Given the description of an element on the screen output the (x, y) to click on. 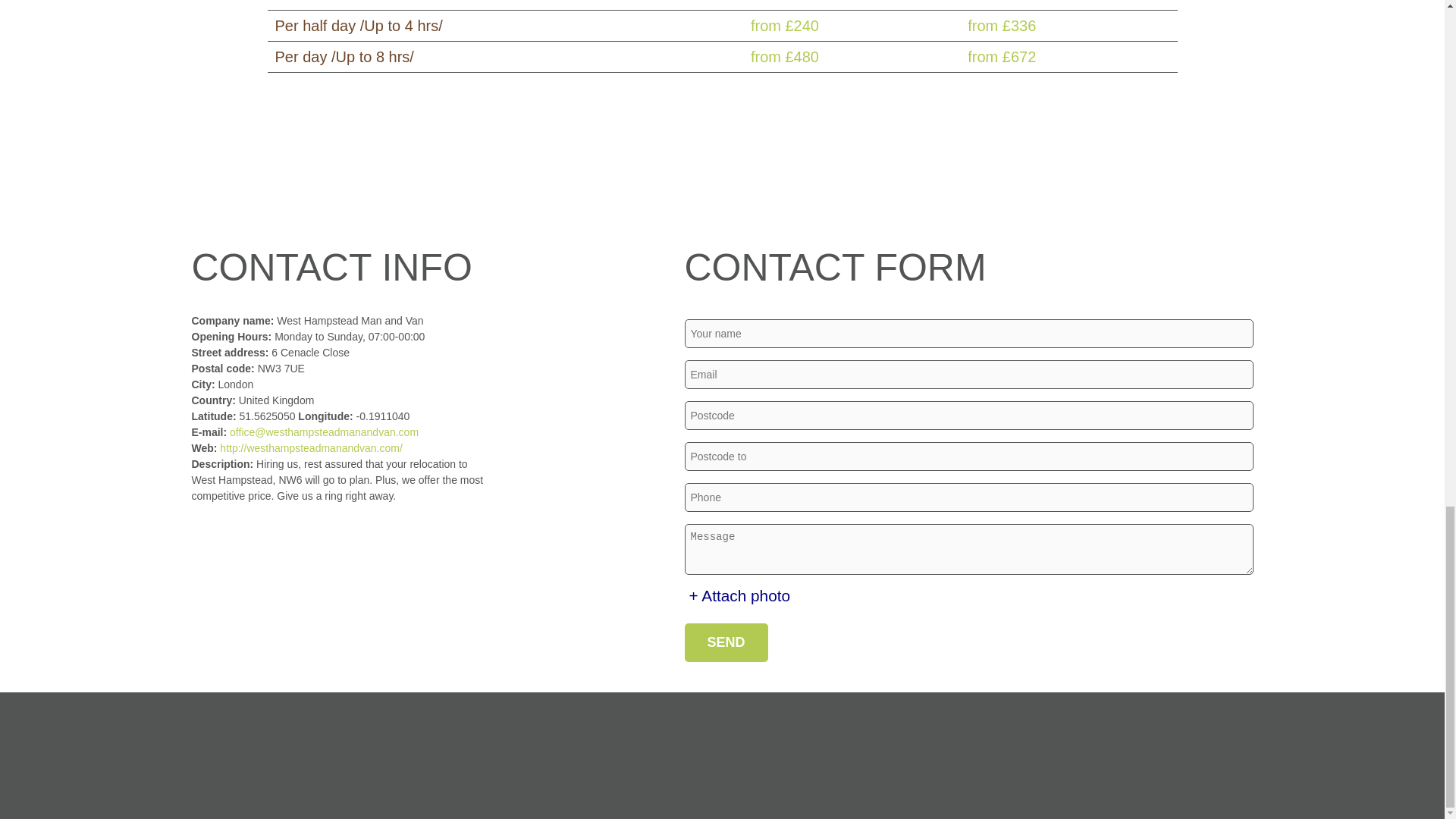
Send E-mail (324, 431)
SEND (725, 642)
